Given the description of an element on the screen output the (x, y) to click on. 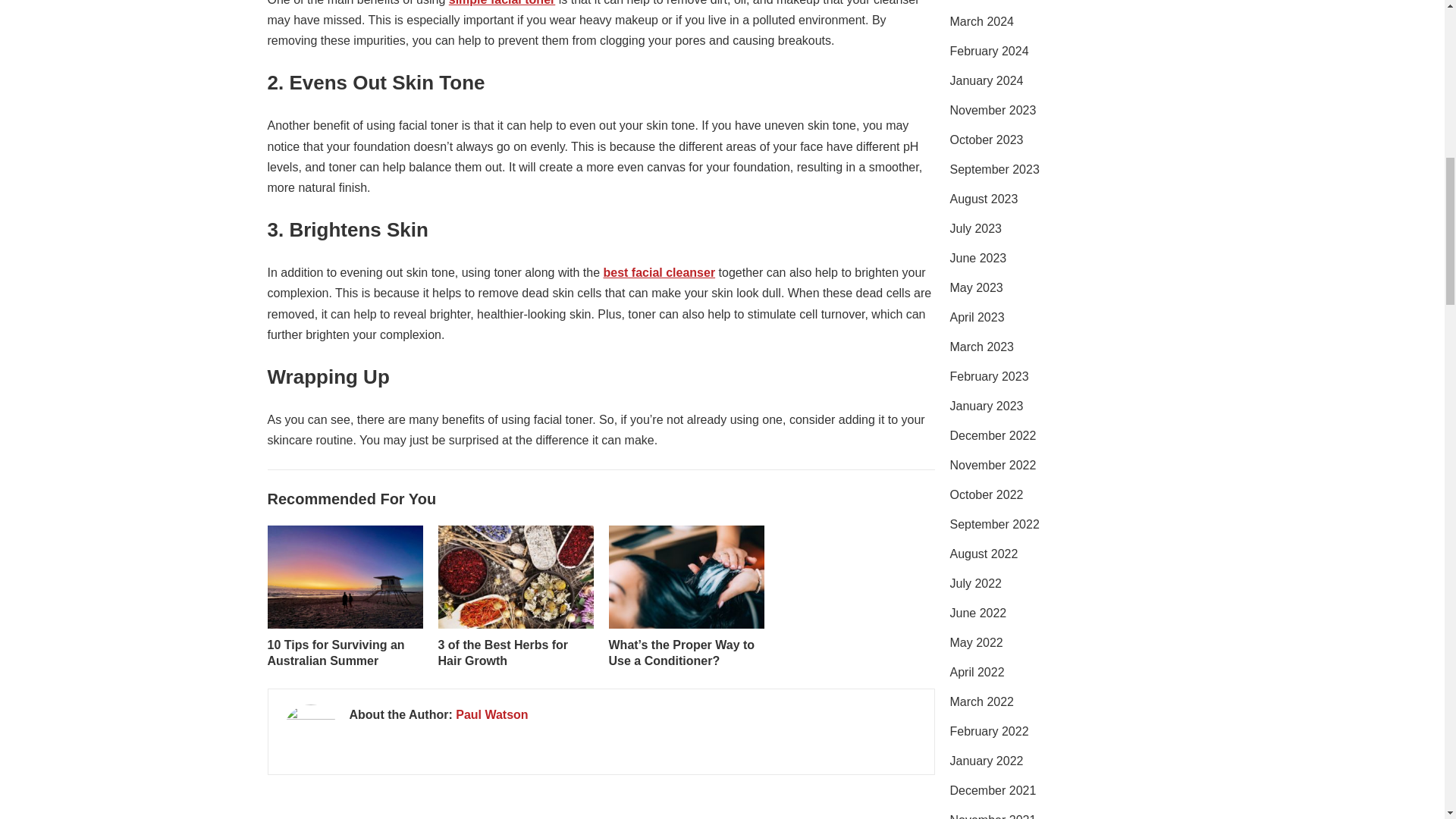
simple facial toner (502, 2)
February 2024 (988, 51)
10 Tips for Surviving an Australian Summer (335, 652)
Paul Watson (491, 714)
March 2024 (981, 21)
3 of the Best Herbs for Hair Growth (503, 652)
best facial cleanser (658, 272)
